Given the description of an element on the screen output the (x, y) to click on. 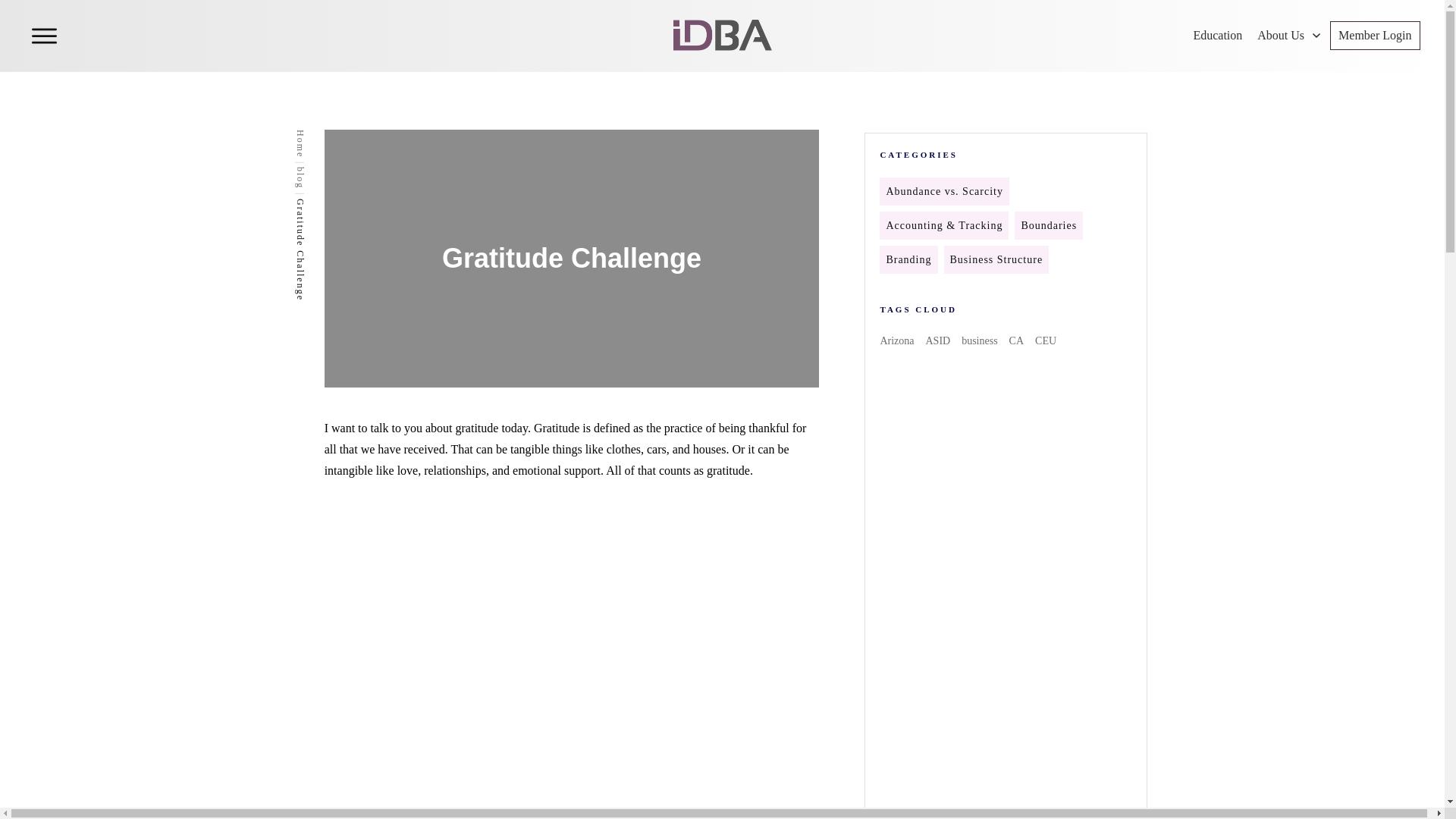
Education (1216, 35)
About Us (1289, 35)
Member Login (1374, 35)
Abundance vs. Scarcity (944, 191)
NL Gratitude Challenge 12052020 (484, 663)
